Given the description of an element on the screen output the (x, y) to click on. 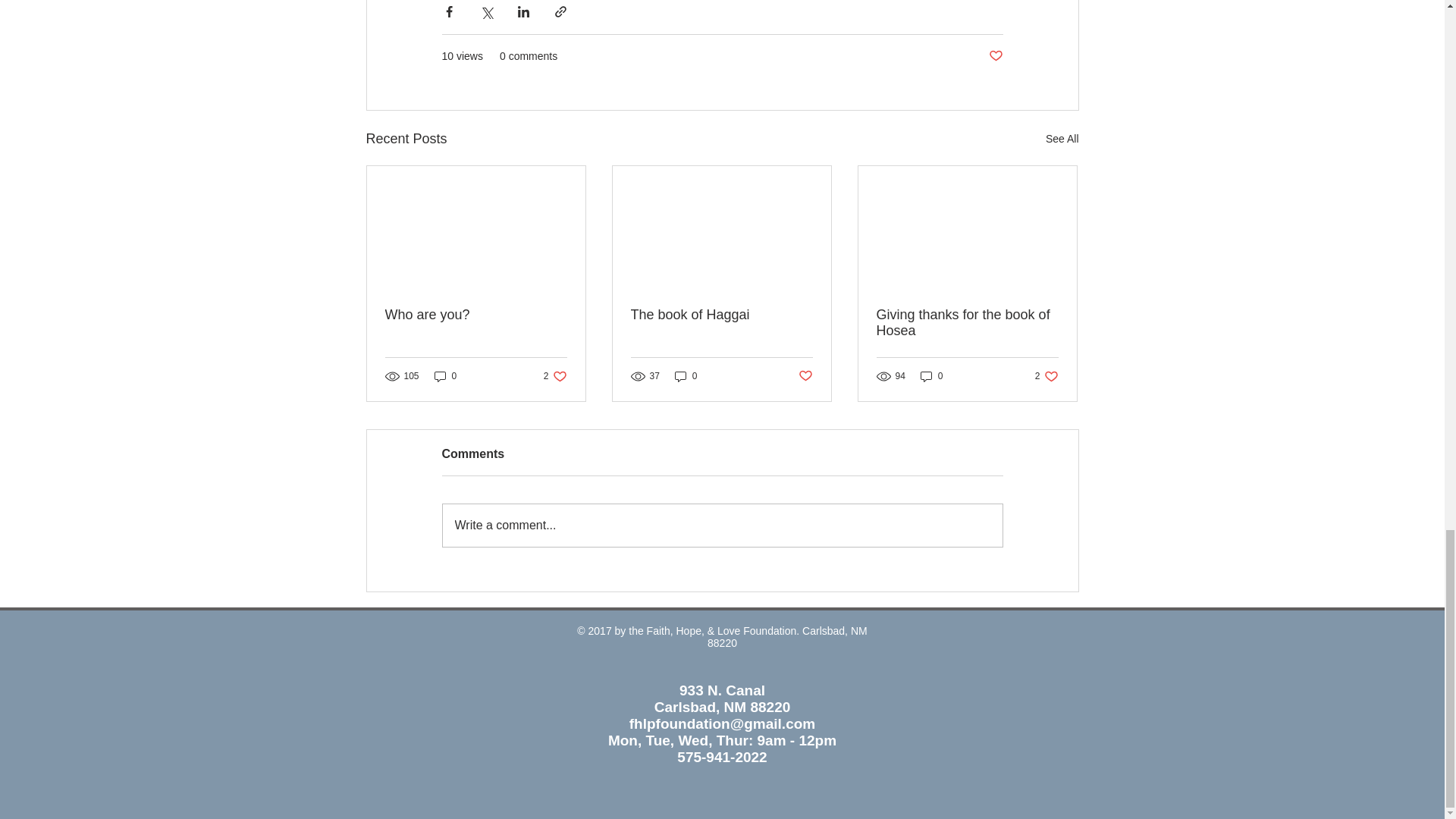
Post not marked as liked (995, 56)
Who are you? (476, 314)
0 (445, 375)
Giving thanks for the book of Hosea (967, 323)
0 (685, 375)
Post not marked as liked (804, 376)
See All (1061, 138)
The book of Haggai (721, 314)
